Given the description of an element on the screen output the (x, y) to click on. 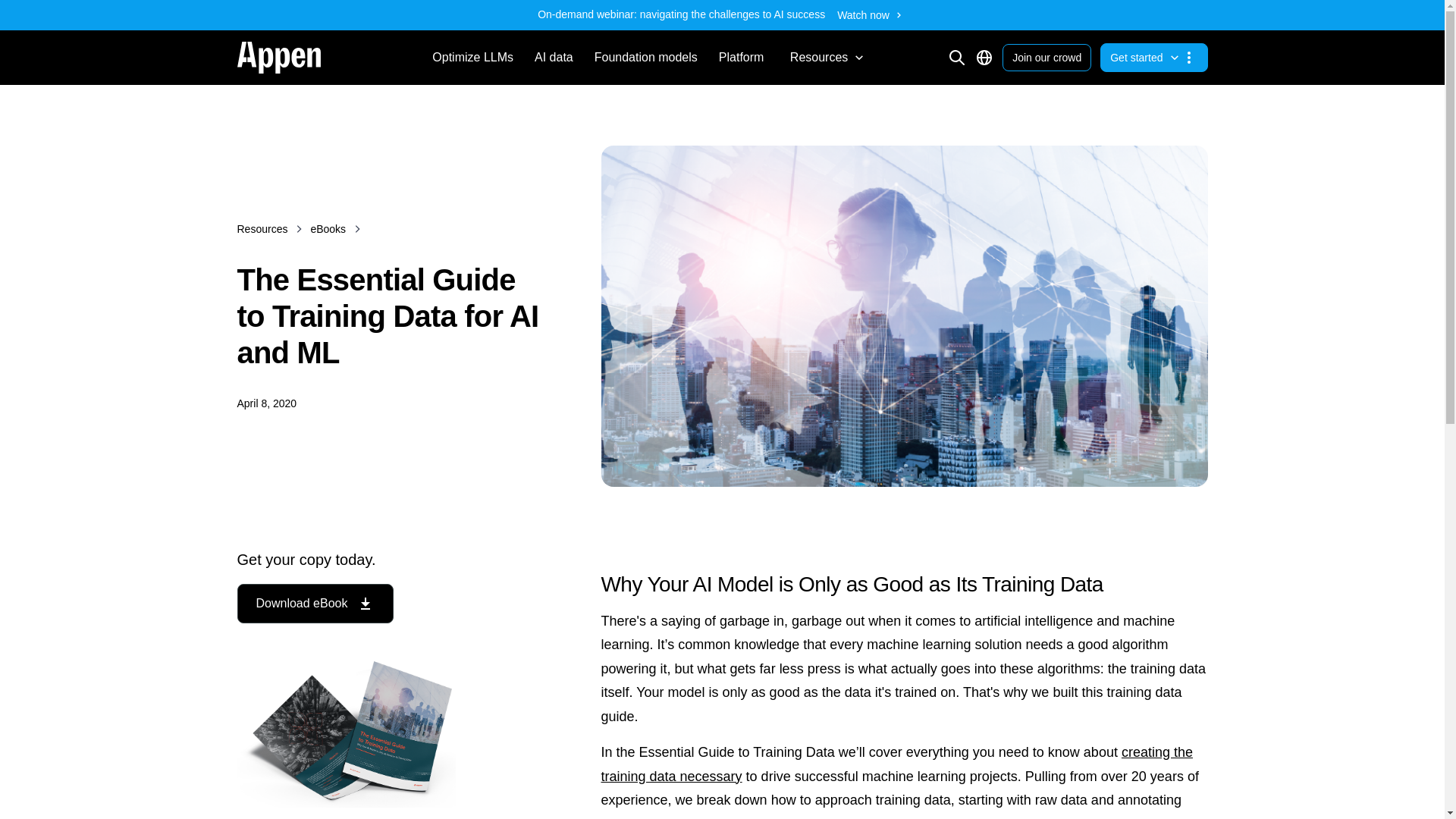
eBooks (328, 228)
Resources (260, 228)
Foundation models (645, 57)
AI data (553, 57)
Optimize LLMs (473, 57)
Join our crowd (1046, 57)
Watch now (872, 14)
Download eBook (314, 603)
Platform (740, 57)
